Given the description of an element on the screen output the (x, y) to click on. 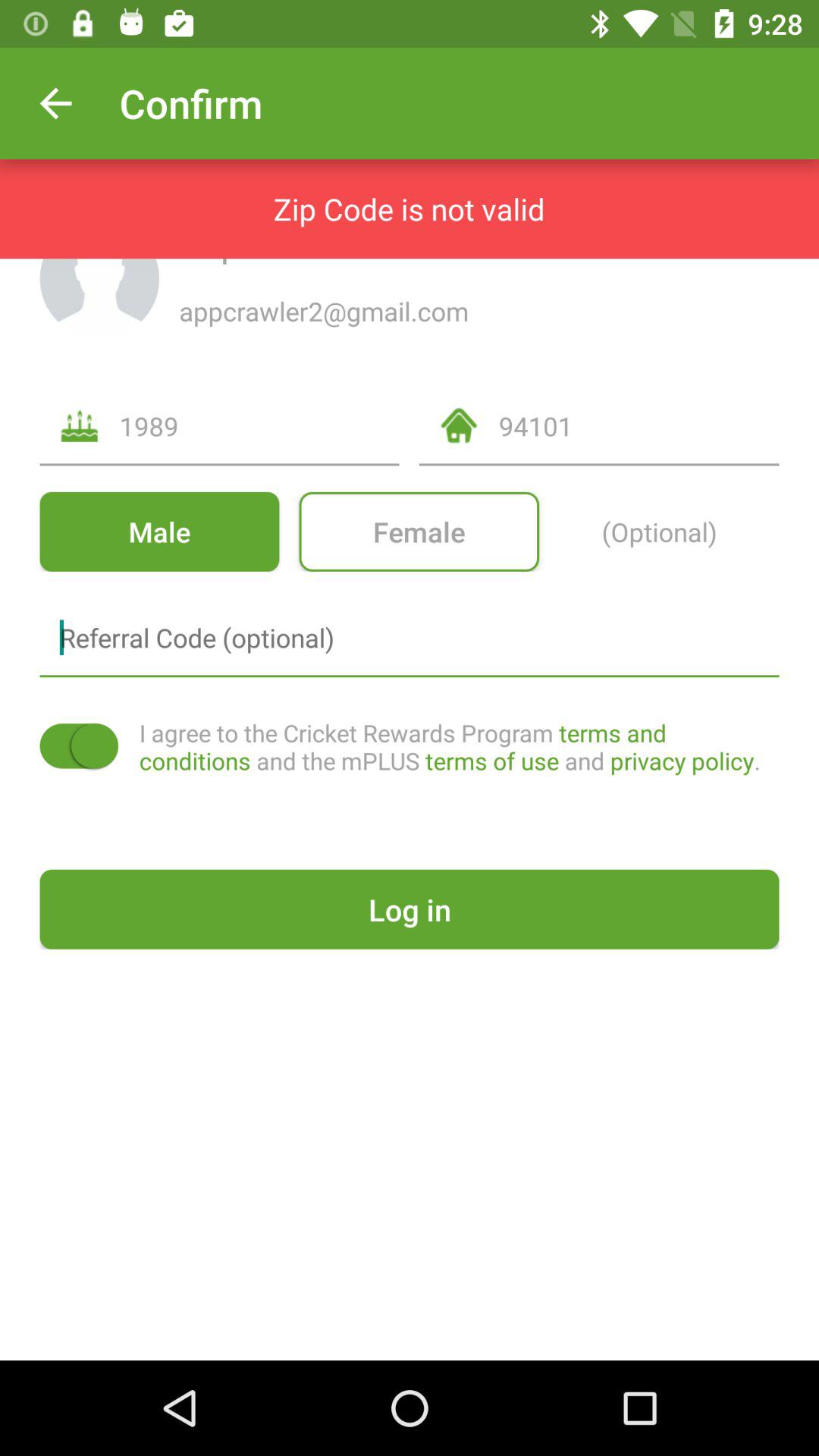
launch the item next to female (159, 531)
